Given the description of an element on the screen output the (x, y) to click on. 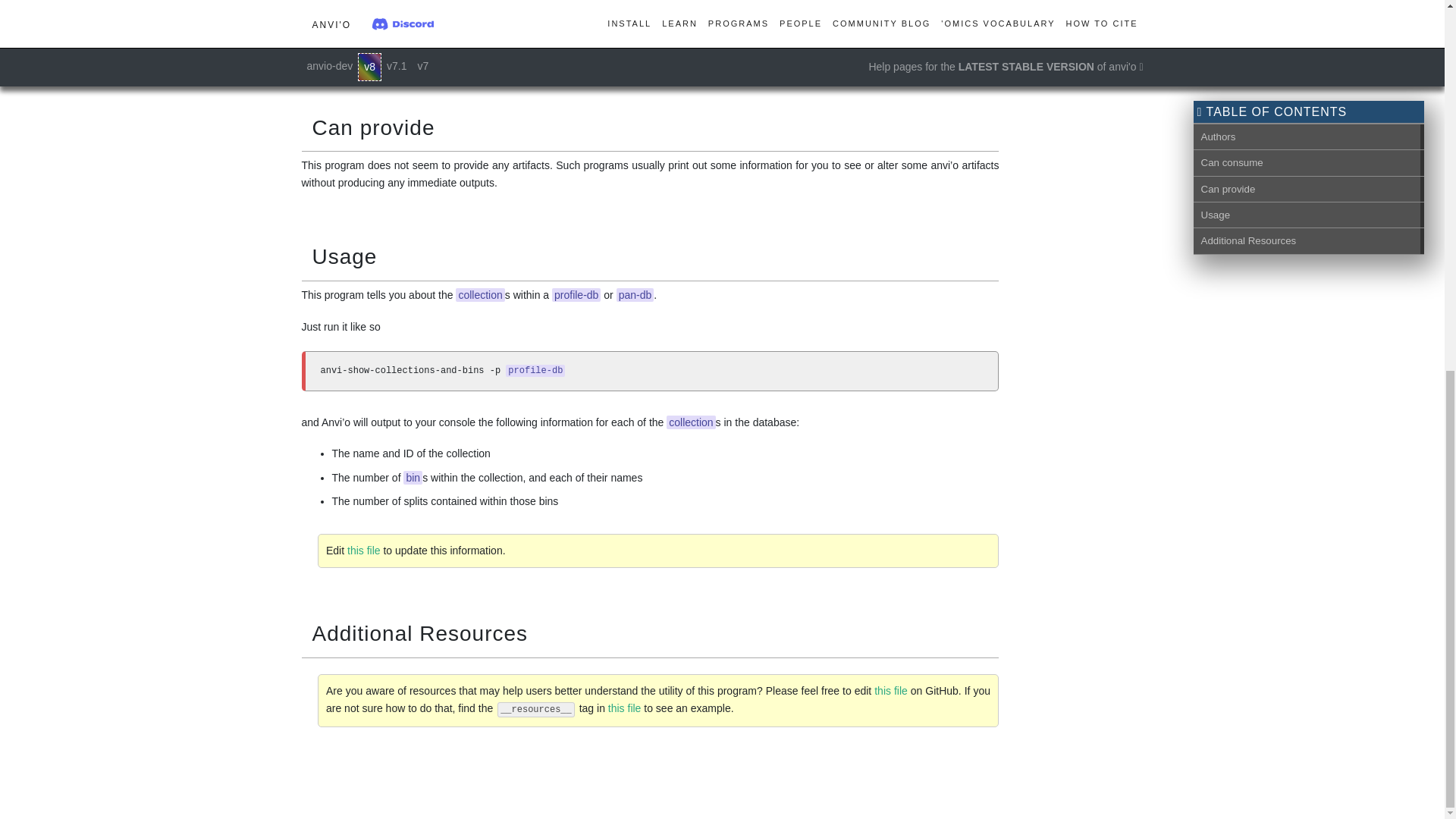
collection (480, 295)
profile-db (535, 370)
profile-db (381, 52)
this file (891, 690)
bin (413, 477)
profile-db (576, 295)
pan-db (635, 295)
collection (690, 422)
this file (625, 707)
this file (363, 550)
pan-db (319, 52)
